Given the description of an element on the screen output the (x, y) to click on. 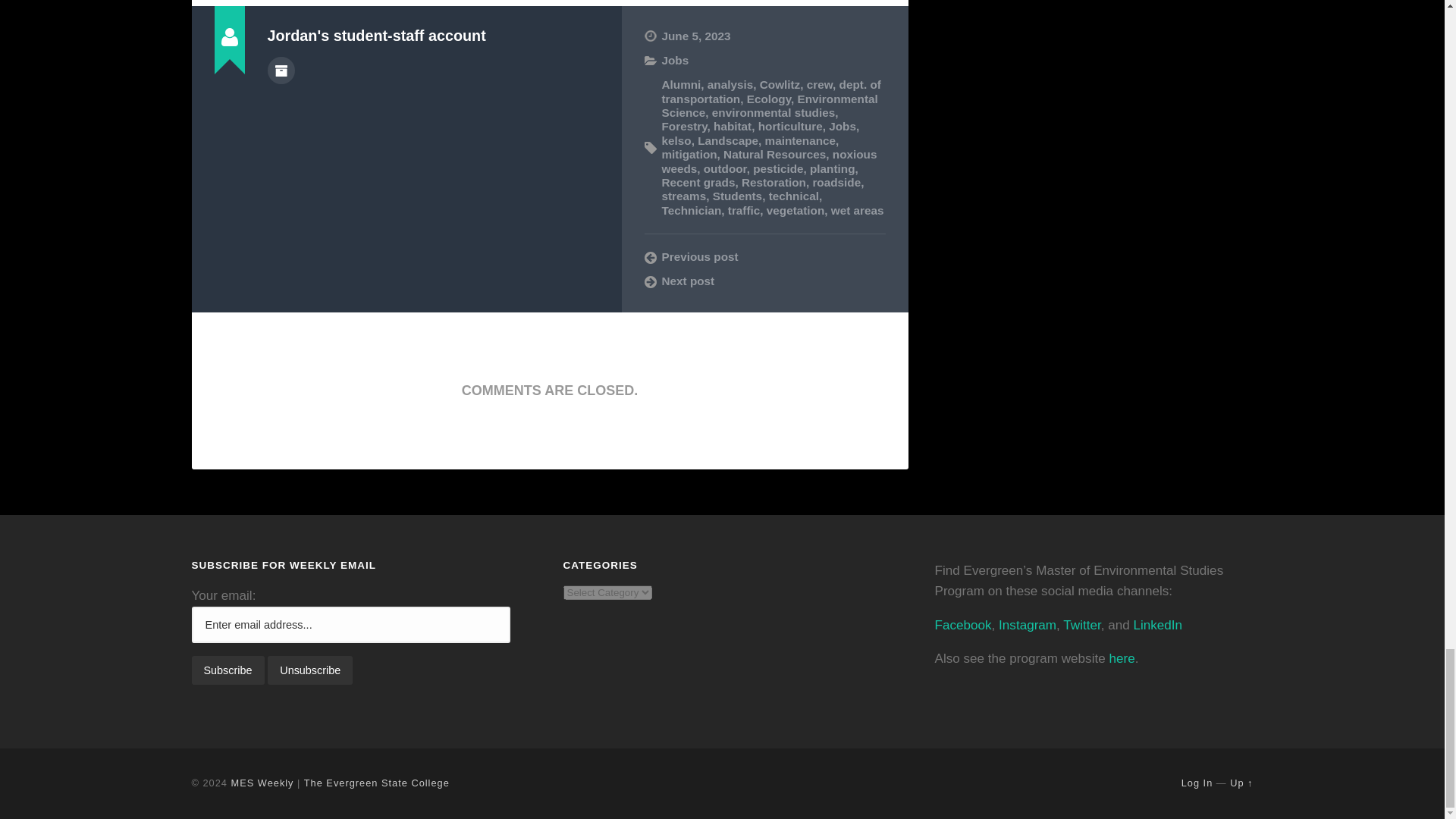
Enter email address... (349, 624)
To the top (1241, 782)
Jobs (674, 60)
analysis (729, 83)
Subscribe (226, 670)
Alumni (680, 83)
crew (819, 83)
Ecology (768, 98)
dept. of transportation (770, 90)
Cowlitz (780, 83)
